Given the description of an element on the screen output the (x, y) to click on. 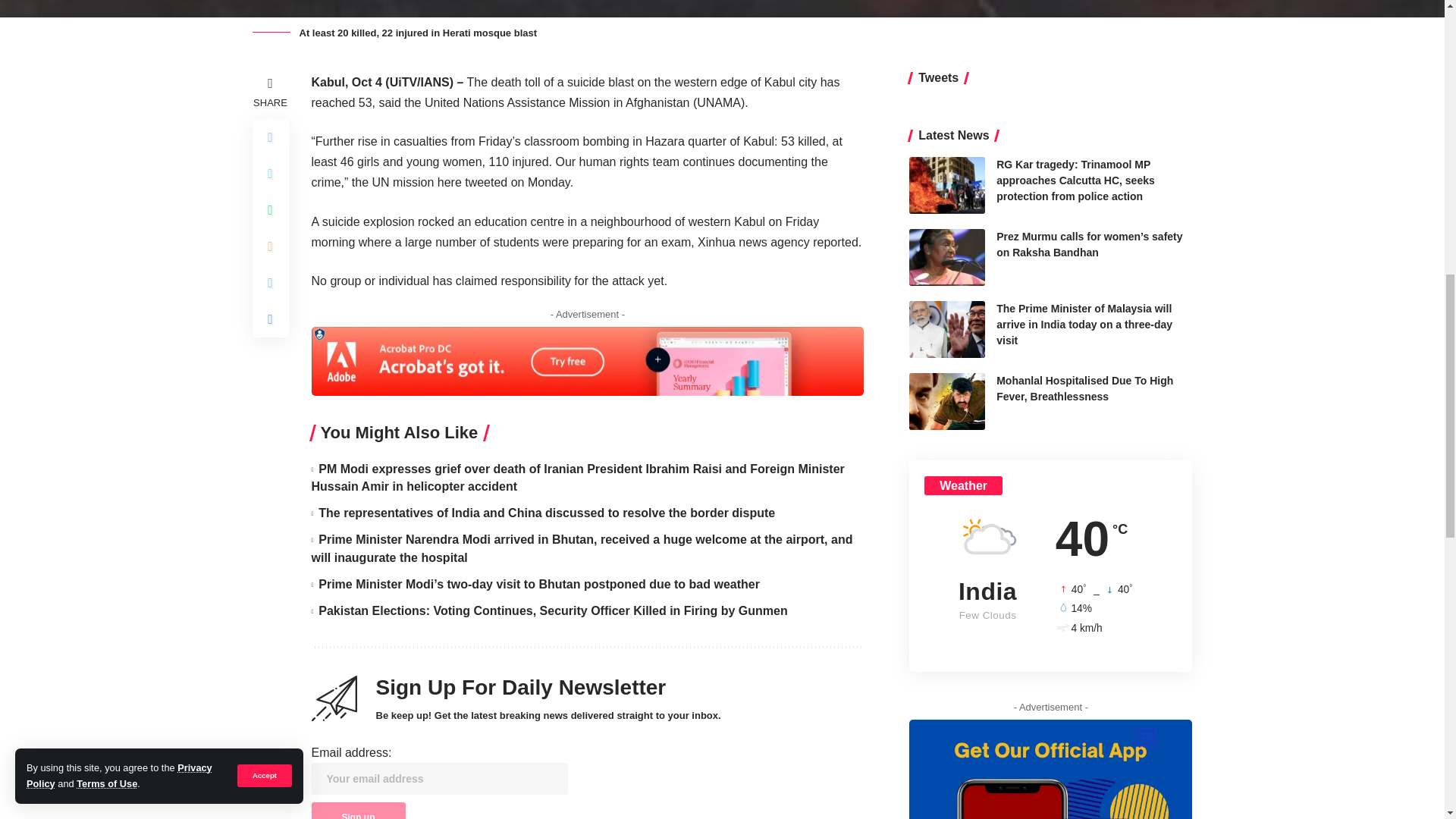
Sign up (357, 810)
